Given the description of an element on the screen output the (x, y) to click on. 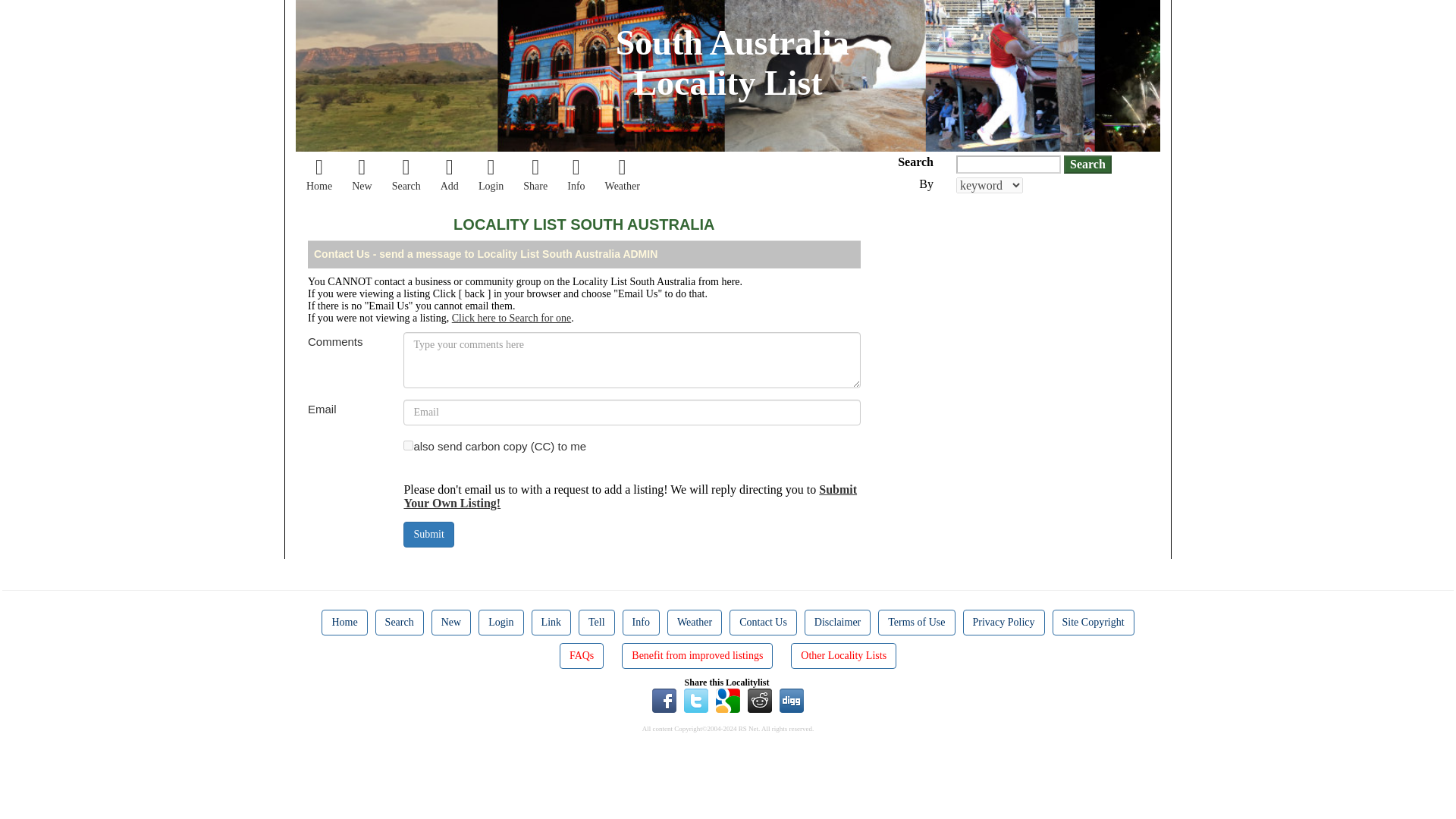
FAQs (581, 655)
Home (343, 622)
Tell (596, 622)
Please ReadWebsite Disclaimer (837, 622)
Benefit from improved listings (697, 655)
Info (641, 622)
Submit (427, 534)
Login (490, 175)
Search Locality List South Australia (405, 175)
Search (1088, 164)
Tell a friend about Locality List South Australia (535, 175)
Login (500, 622)
Contact Site Admin (762, 622)
Link to Us (550, 622)
Search (399, 622)
